Given the description of an element on the screen output the (x, y) to click on. 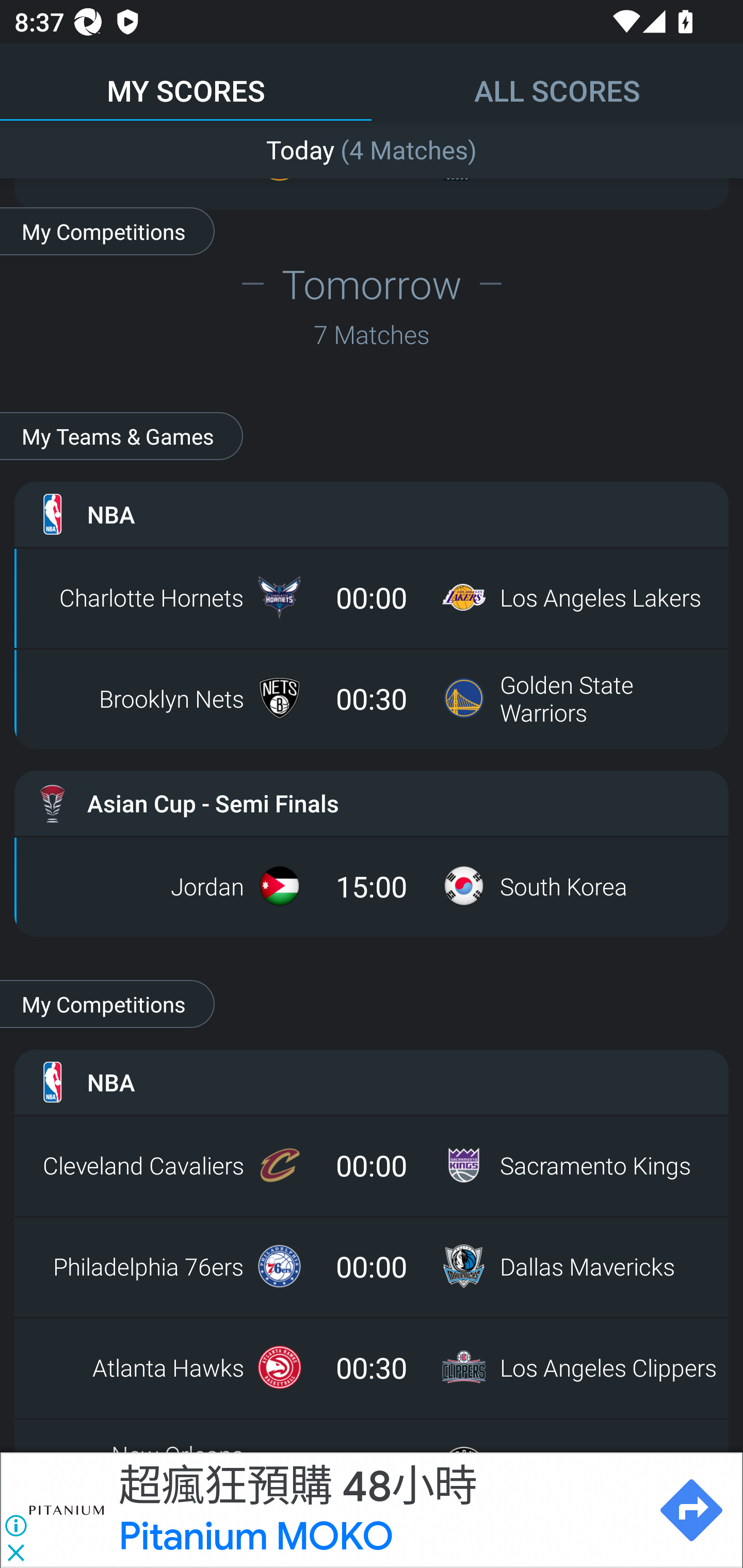
MY SCORES (185, 81)
ALL SCORES (557, 81)
NBA (371, 514)
Charlotte Hornets 00:00 Los Angeles Lakers (371, 597)
Brooklyn Nets 00:30 Golden State Warriors (371, 698)
Asian Cup - Semi Finals (371, 802)
Jordan 15:00 South Korea (371, 885)
NBA (371, 1081)
Cleveland Cavaliers 00:00 Sacramento Kings (371, 1164)
Philadelphia 76ers 00:00 Dallas Mavericks (371, 1266)
Atlanta Hawks 00:30 Los Angeles Clippers (371, 1367)
超瘋狂預購 48小時 Pitanium MOKO 超瘋狂預購 48小時 Pitanium MOKO (379, 1509)
